Given the description of an element on the screen output the (x, y) to click on. 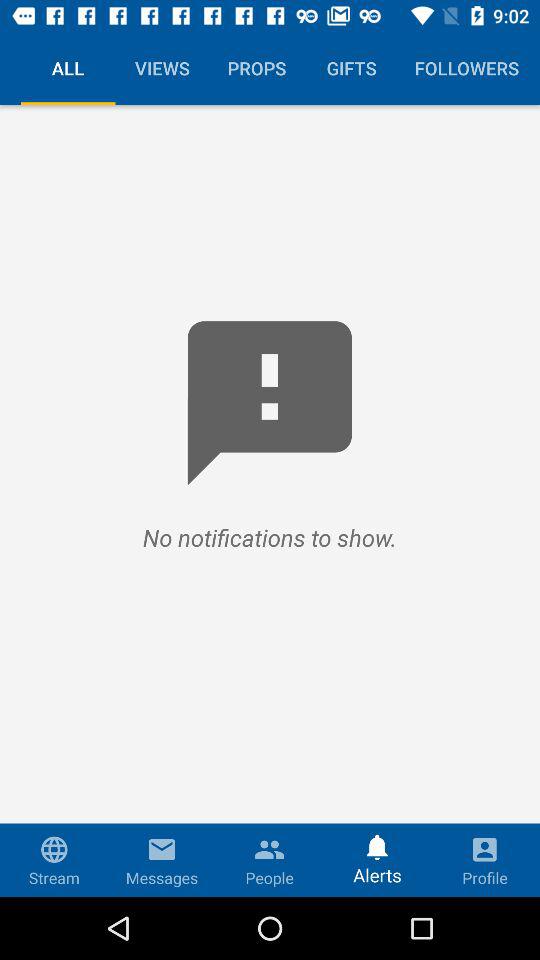
click item below the all (270, 500)
